Given the description of an element on the screen output the (x, y) to click on. 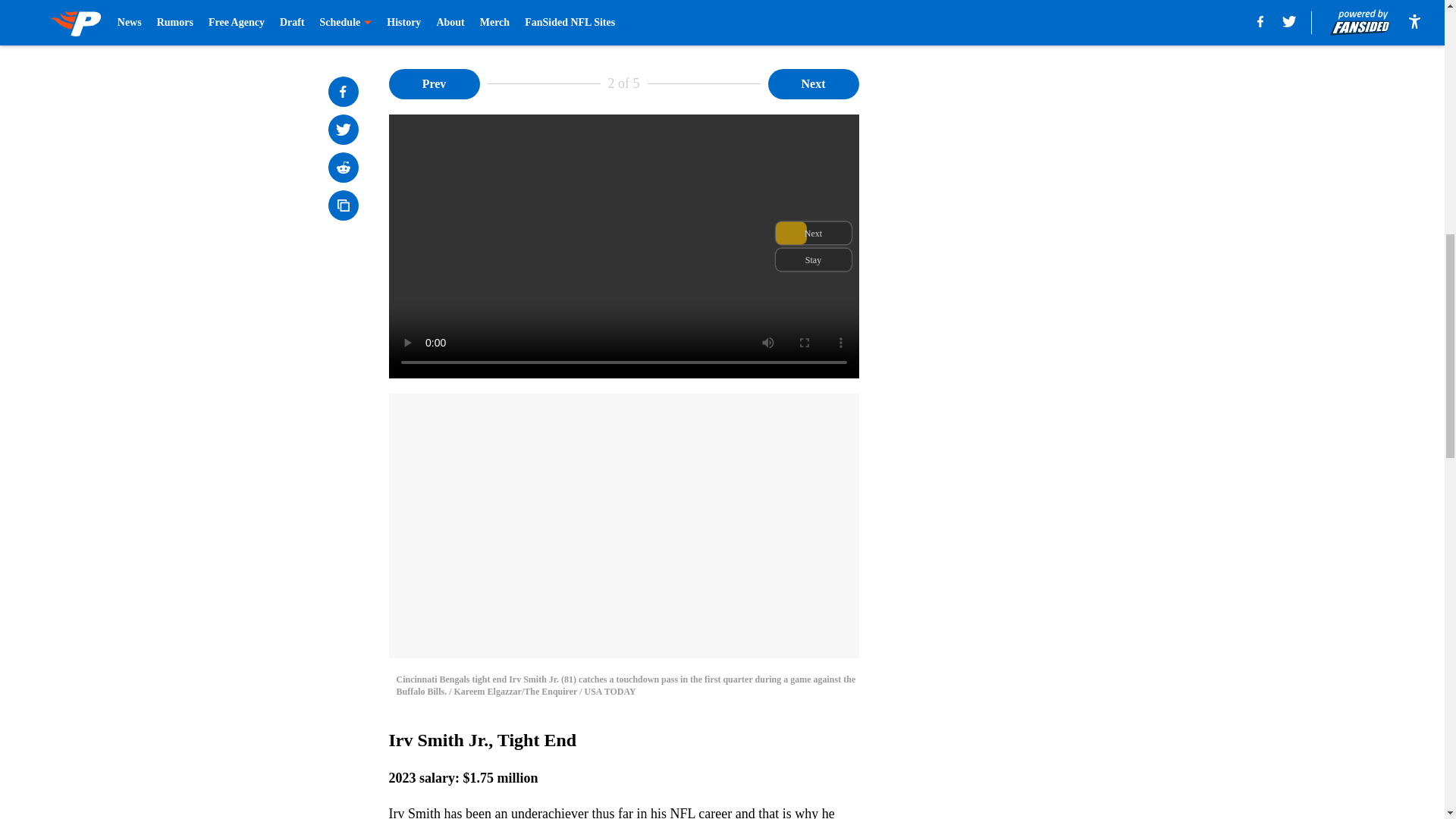
3rd party ad content (1047, 162)
3rd party ad content (1047, 382)
Prev (433, 82)
Next (813, 82)
